Given the description of an element on the screen output the (x, y) to click on. 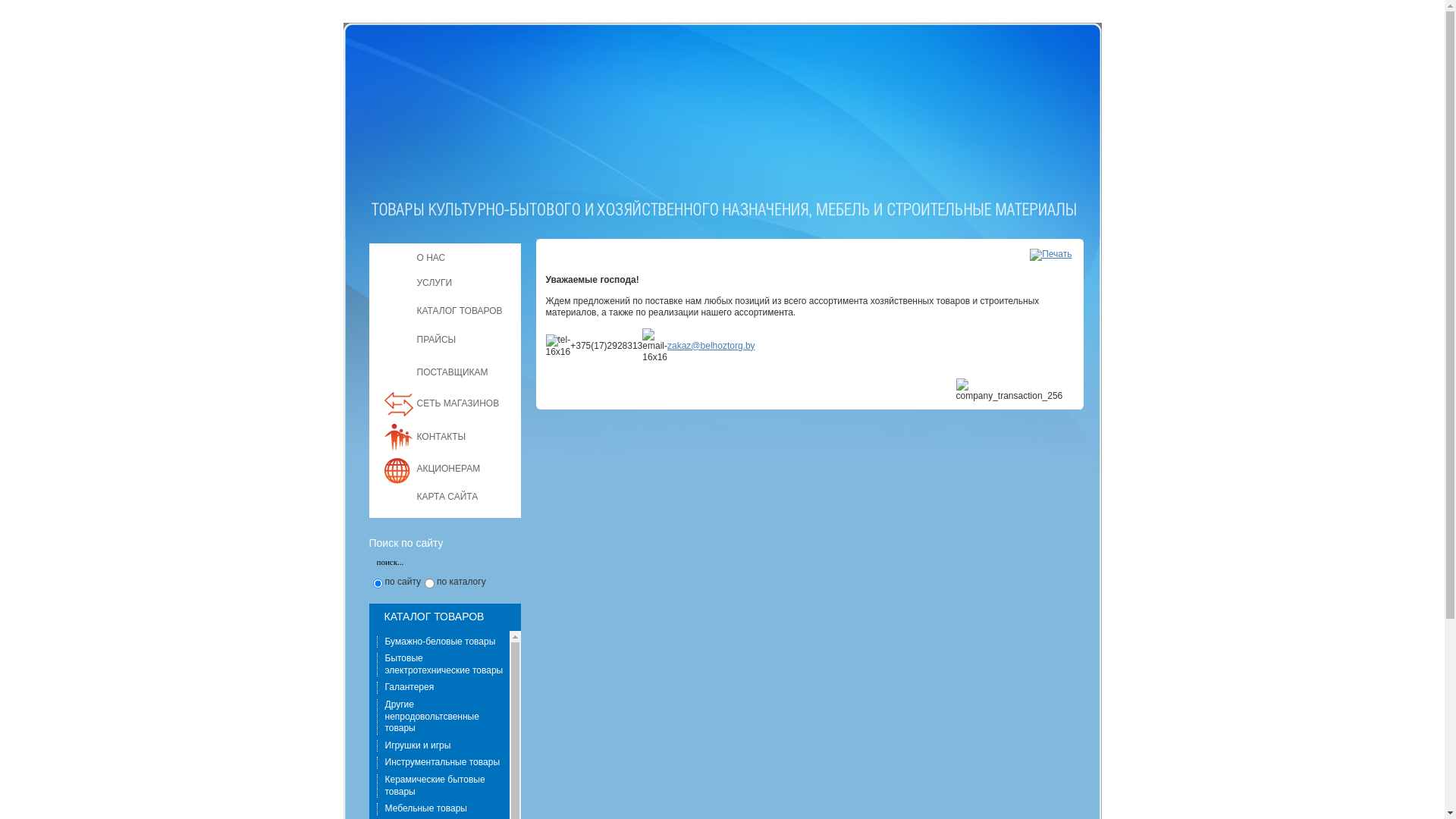
1 Element type: text (429, 583)
0 Element type: text (377, 583)
zakaz@belhoztorg.by Element type: text (711, 345)
